Given the description of an element on the screen output the (x, y) to click on. 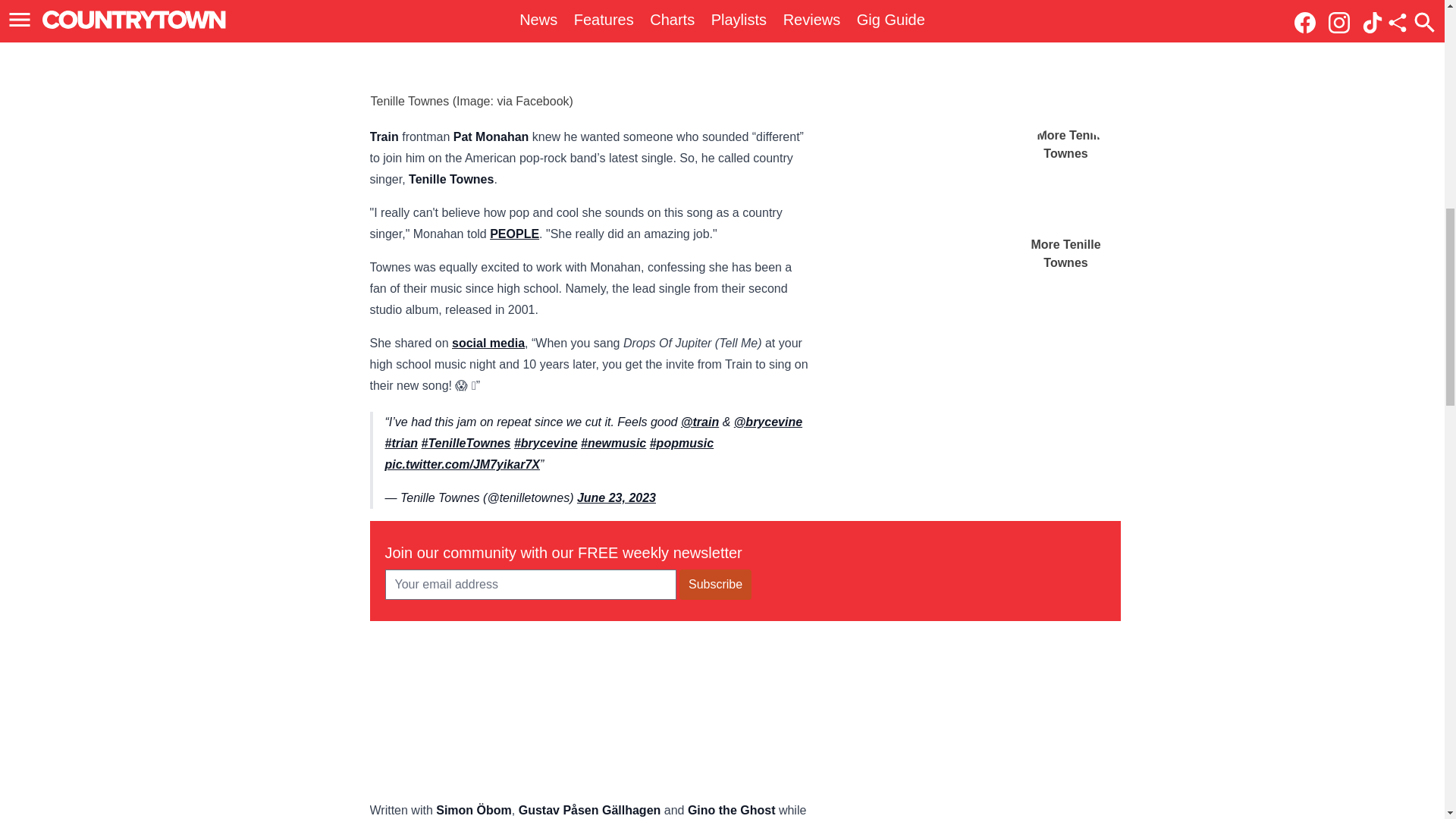
social media (487, 342)
June 23, 2023 (616, 497)
Subscribe (715, 584)
PEOPLE (513, 233)
